Given the description of an element on the screen output the (x, y) to click on. 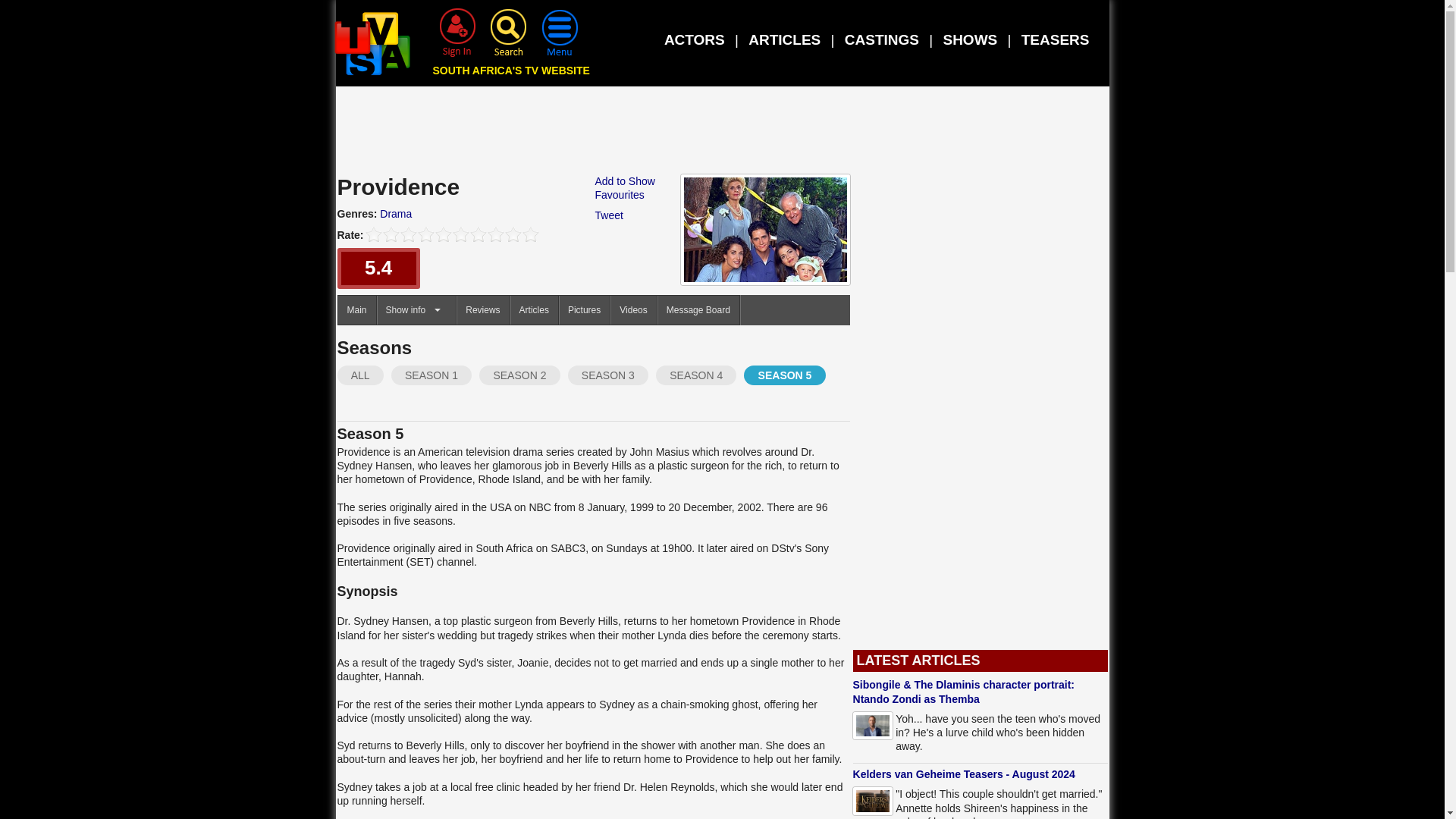
SHOWS (969, 39)
CASTINGS (881, 39)
Advertisement (722, 133)
TEASERS (1055, 39)
Advertisement (979, 412)
ACTORS (694, 39)
ARTICLES (784, 39)
